Given the description of an element on the screen output the (x, y) to click on. 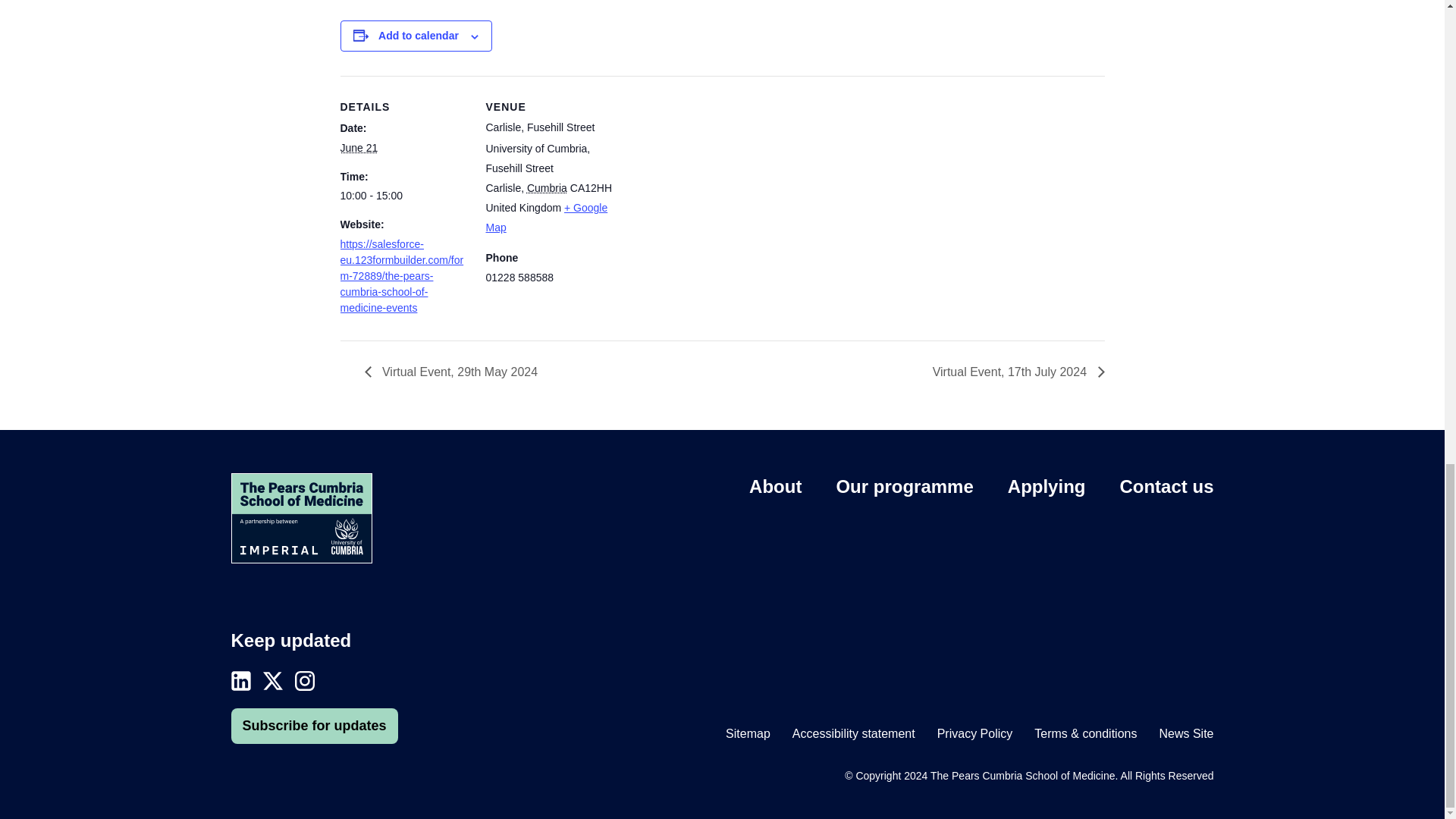
Follow us on Instagram. (304, 680)
Our programme (903, 485)
2024-06-21 (358, 147)
Cumbria (547, 187)
Virtual Event, 17th July 2024 (1014, 371)
About (775, 485)
Add to calendar (418, 35)
Click to view a Google Map (545, 217)
2024-06-21 (403, 195)
Follow us on LinkedIn. (240, 680)
Follow us on X. (272, 680)
Virtual Event, 29th May 2024 (455, 371)
Applying (1046, 485)
